Given the description of an element on the screen output the (x, y) to click on. 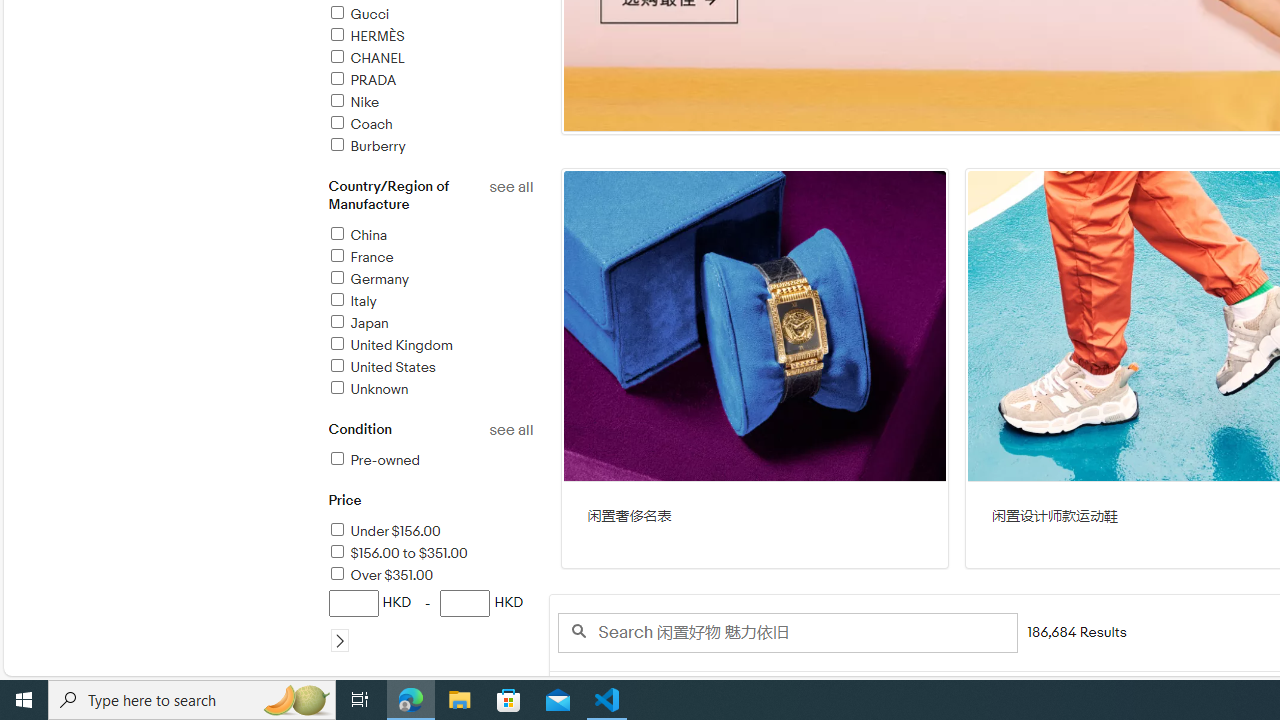
Pre-owned (373, 460)
France (360, 257)
Japan (430, 324)
United Kingdom (389, 345)
Japan (357, 323)
Germany (367, 279)
Maximum Value (465, 603)
Pre-owned (430, 461)
Submit price range (339, 640)
See all country/region of manufacture refinements (510, 187)
$156.00 to $351.00 (430, 554)
Gucci (358, 14)
CHANEL (365, 57)
